Given the description of an element on the screen output the (x, y) to click on. 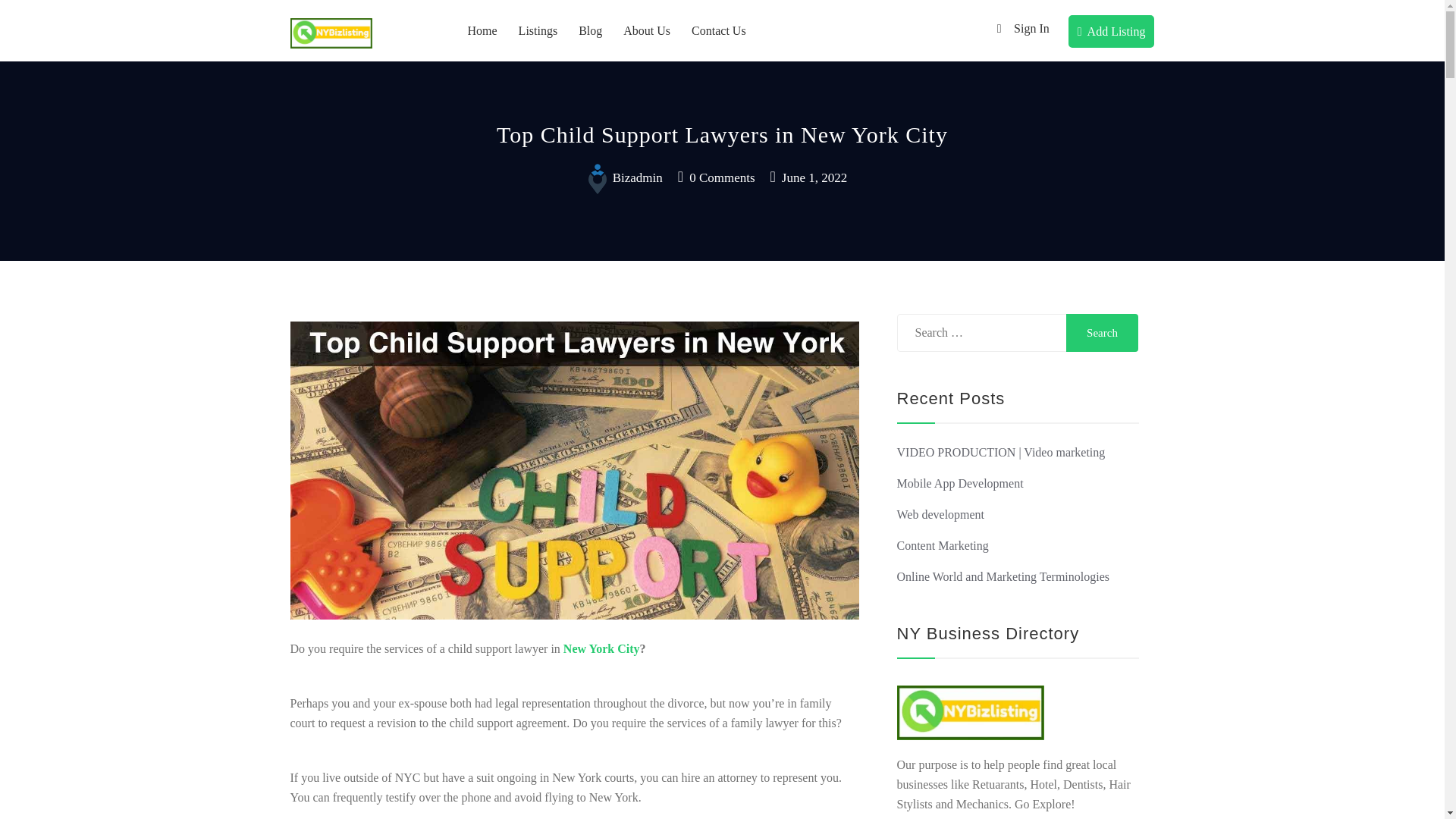
Add Listing (1111, 31)
June 1, 2022 (808, 177)
Sign In (1019, 28)
NYBIZListing (349, 67)
About Us (646, 30)
Search (1101, 332)
0 Comments (716, 177)
Bizadmin (622, 177)
Search (1101, 332)
Contact us (719, 30)
bizadmin (622, 177)
Listings (538, 30)
Listings (538, 30)
New York City (601, 647)
Contact Us (719, 30)
